Given the description of an element on the screen output the (x, y) to click on. 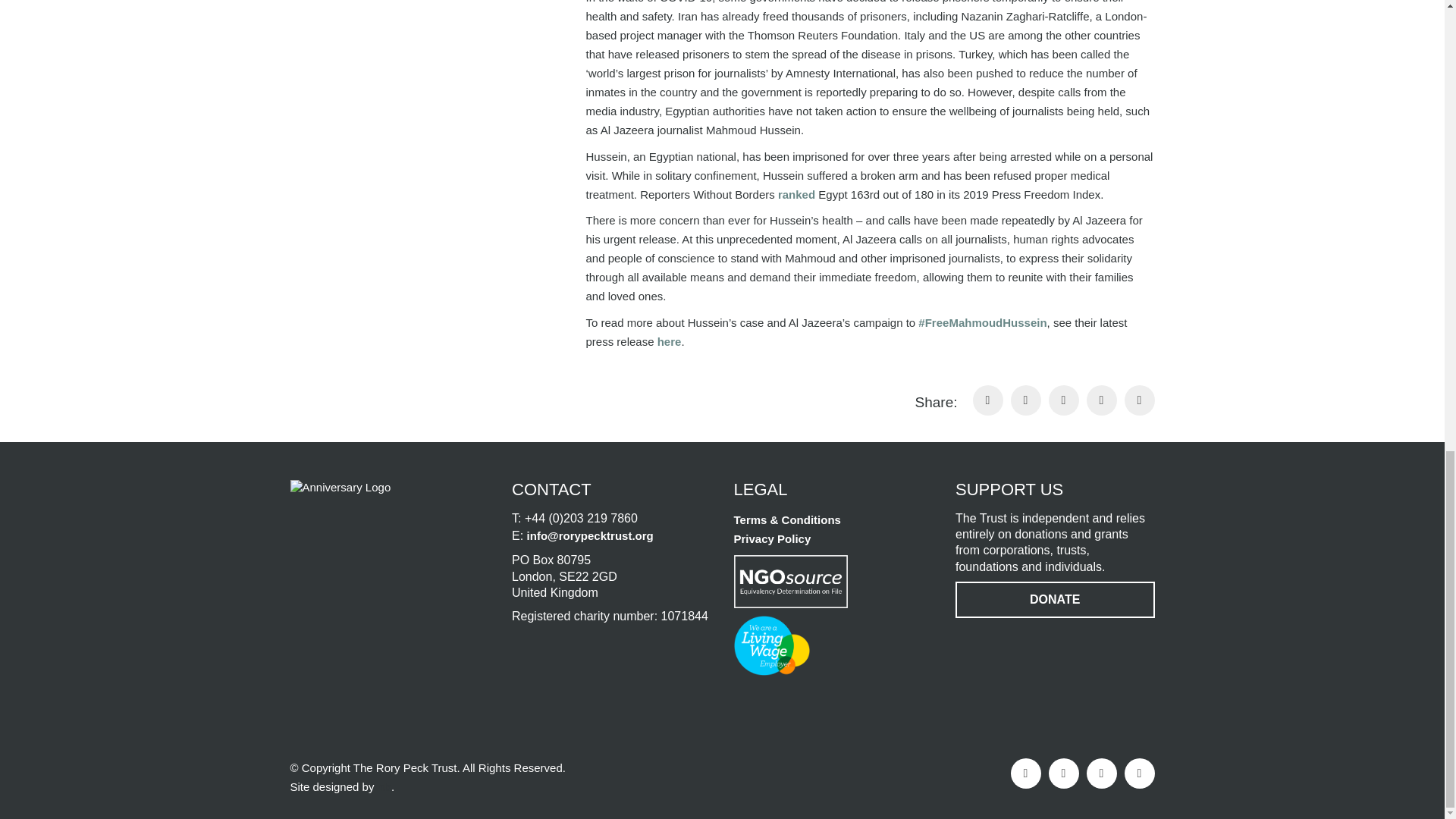
Donate (1054, 599)
We are a Living Wage Employer (771, 645)
NGO Source (790, 581)
DONATE (1054, 599)
Facebook (1025, 773)
Privacy Policy (771, 538)
